Given the description of an element on the screen output the (x, y) to click on. 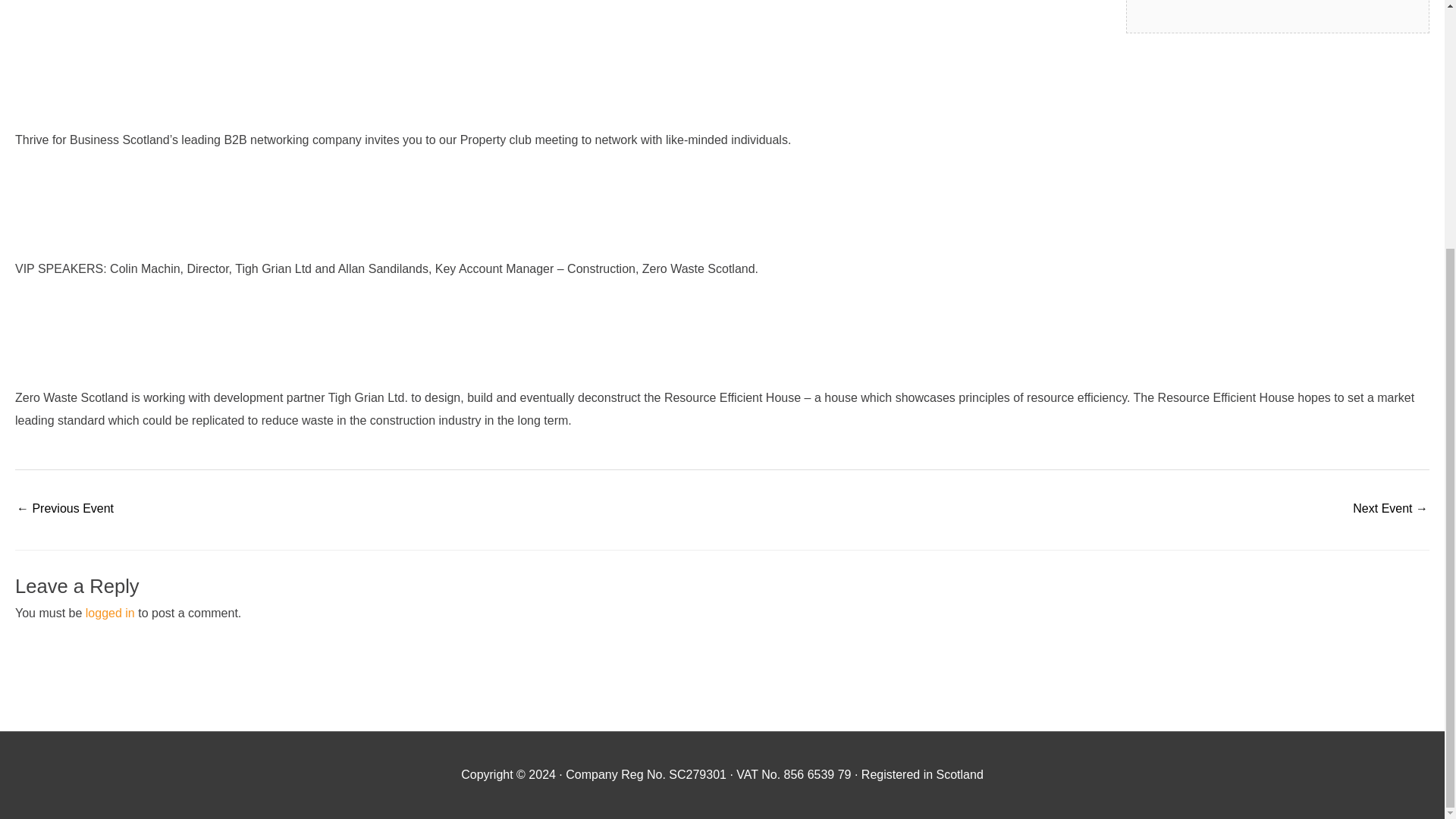
logged in (110, 612)
